Given the description of an element on the screen output the (x, y) to click on. 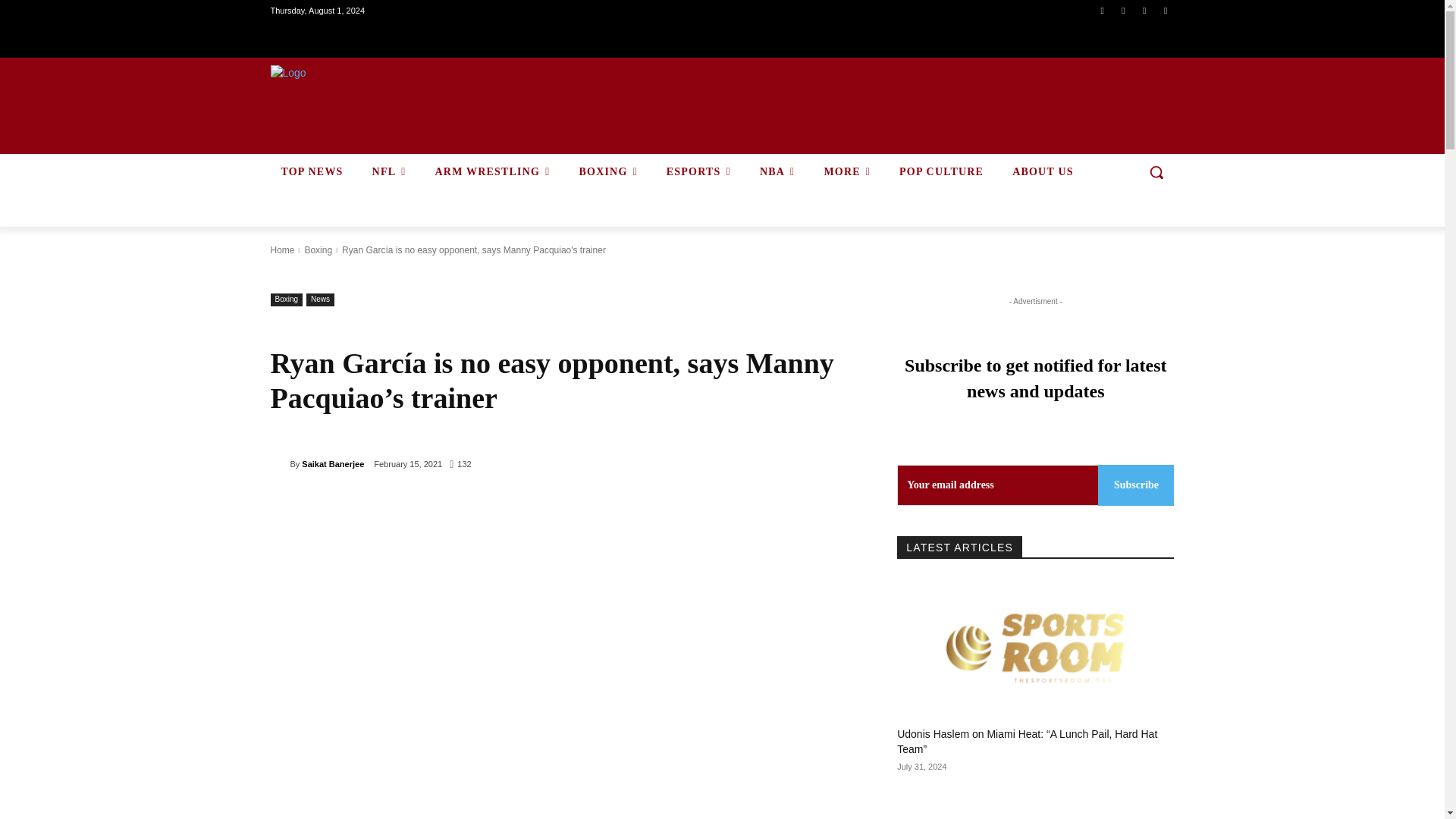
Facebook (1101, 9)
Twitter (1144, 9)
Instagram (1123, 9)
Youtube (1165, 9)
